Given the description of an element on the screen output the (x, y) to click on. 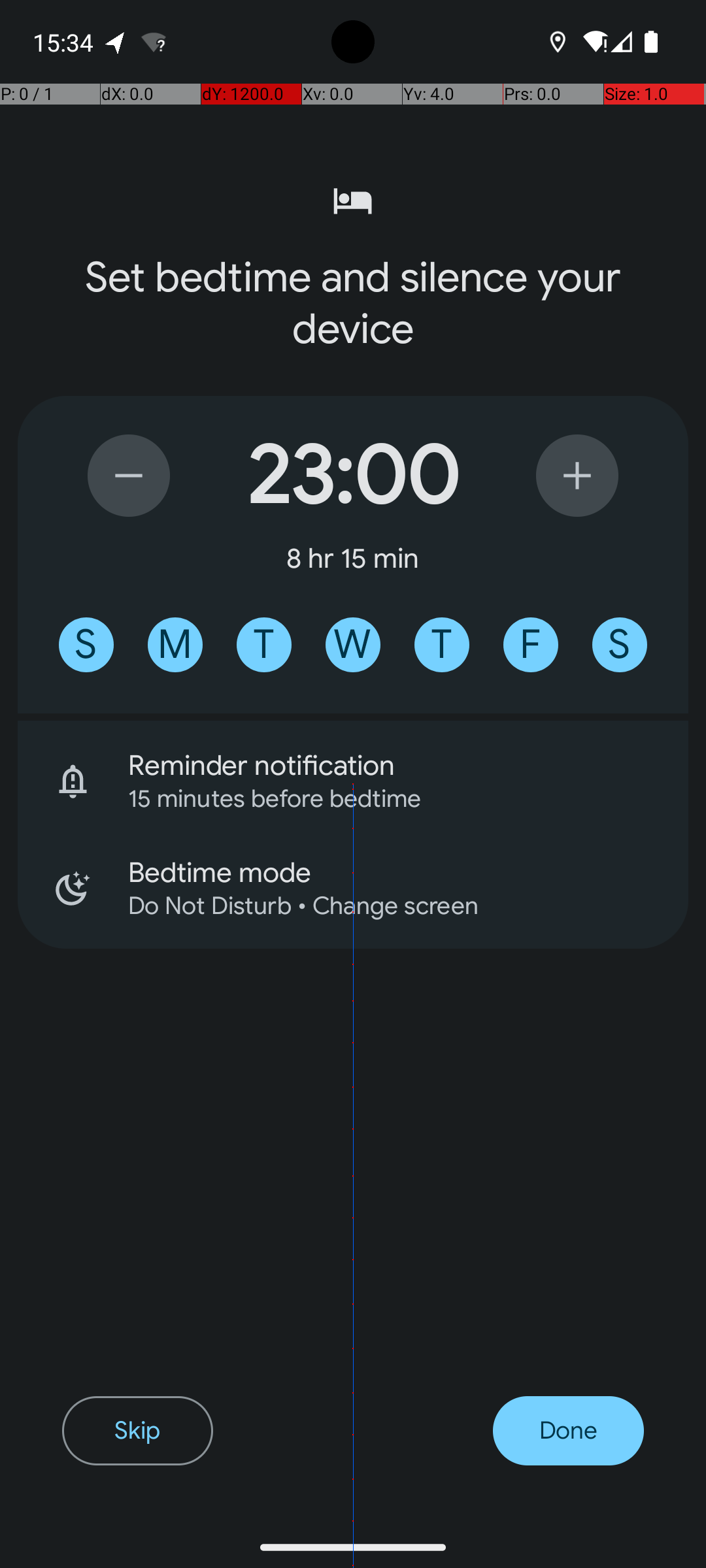
Set bedtime and silence your device Element type: android.widget.TextView (352, 302)
23:00 Element type: android.widget.TextView (353, 475)
8 hr 15 min Element type: android.widget.TextView (352, 558)
Reminder notification Element type: android.widget.TextView (408, 765)
15 minutes before bedtime Element type: android.widget.TextView (390, 798)
Bedtime mode Element type: android.widget.TextView (408, 872)
Do Not Disturb • Change screen Element type: android.widget.TextView (390, 905)
